Given the description of an element on the screen output the (x, y) to click on. 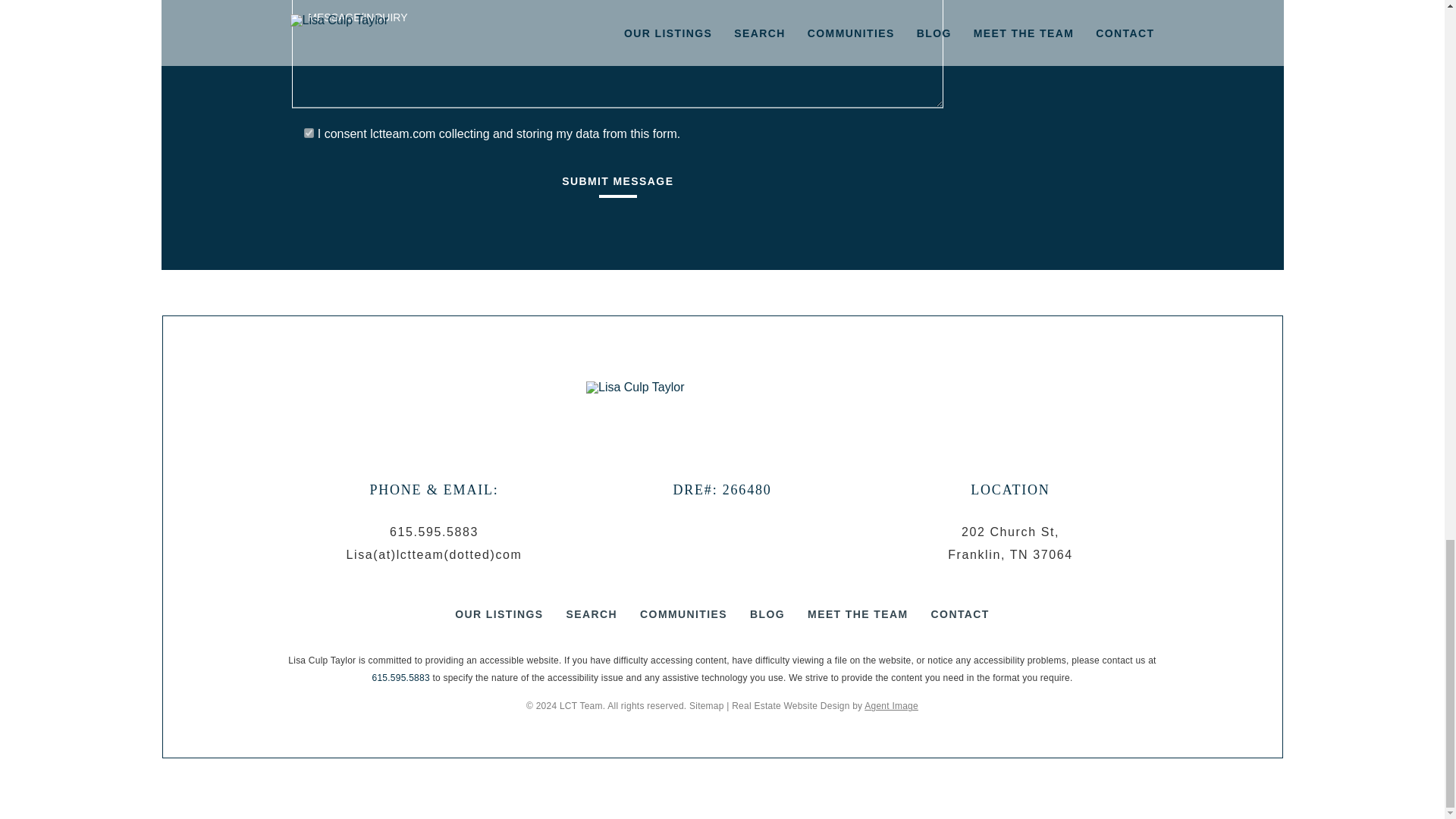
615.595.5883 (434, 531)
SUBMIT MESSAGE (617, 187)
1 (309, 132)
lctteam.com (402, 133)
